Given the description of an element on the screen output the (x, y) to click on. 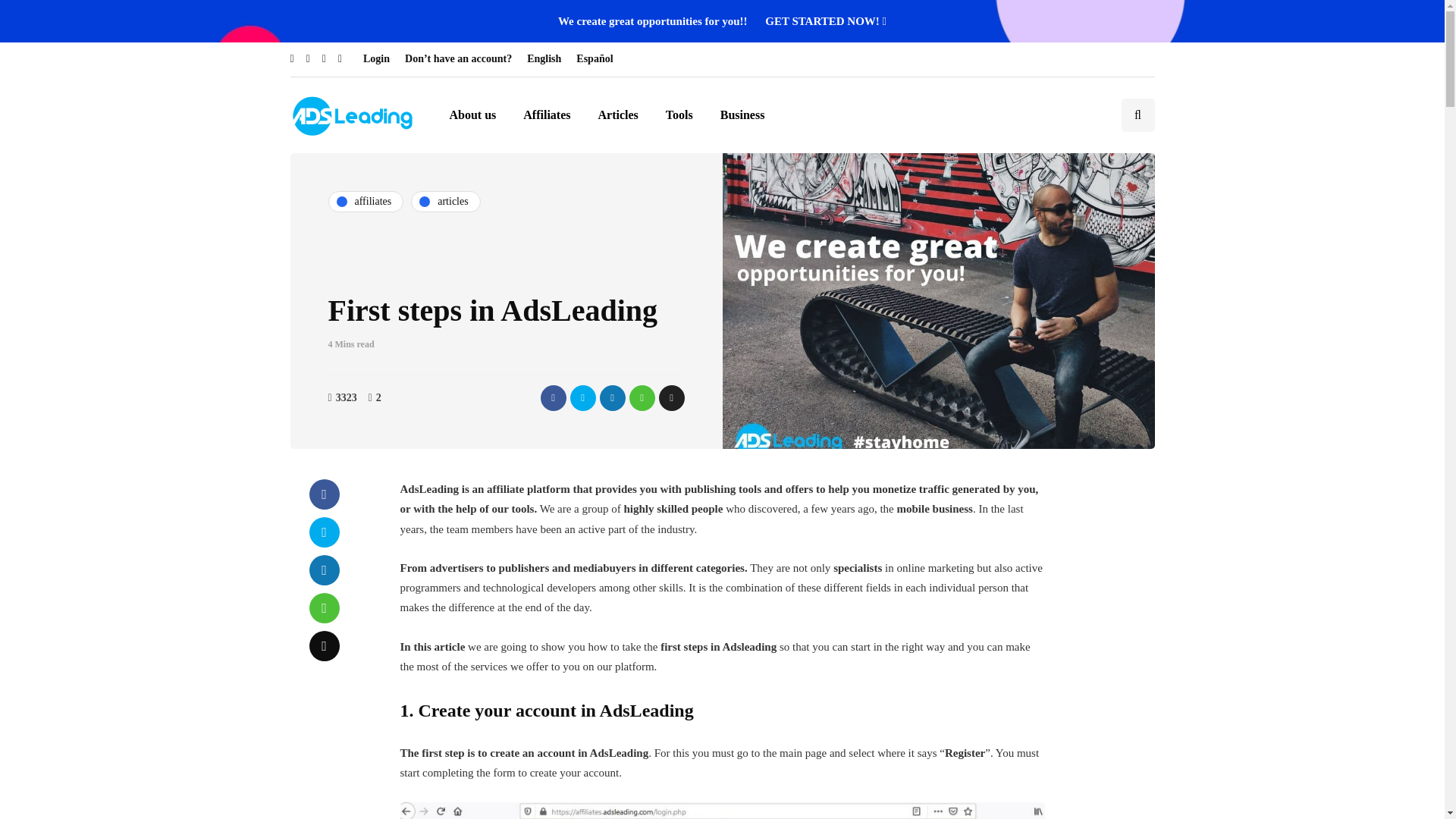
GET STARTED NOW! (825, 21)
Share to Telegram (323, 645)
Share to WhatsApp (641, 397)
About us (472, 114)
Share with Facebook (323, 494)
Share with LinkedIn (611, 397)
Share to WhatsApp (323, 607)
Share with Facebook (553, 397)
Share to Telegram (671, 397)
Tweet this (323, 531)
affiliates (365, 201)
Business (742, 114)
Tweet this (582, 397)
articles (445, 201)
Articles (618, 114)
